Given the description of an element on the screen output the (x, y) to click on. 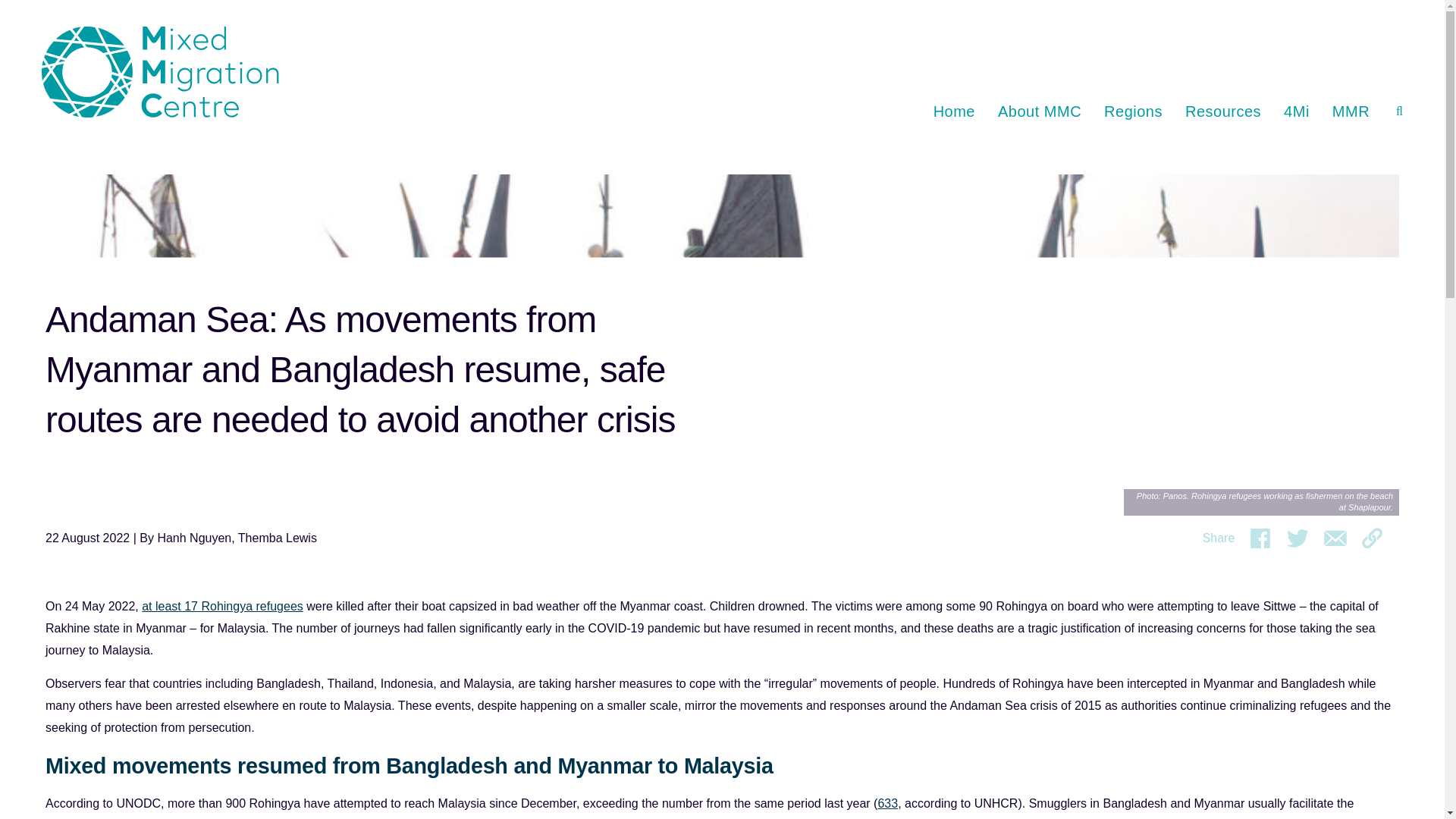
Share by Email (1335, 538)
